Given the description of an element on the screen output the (x, y) to click on. 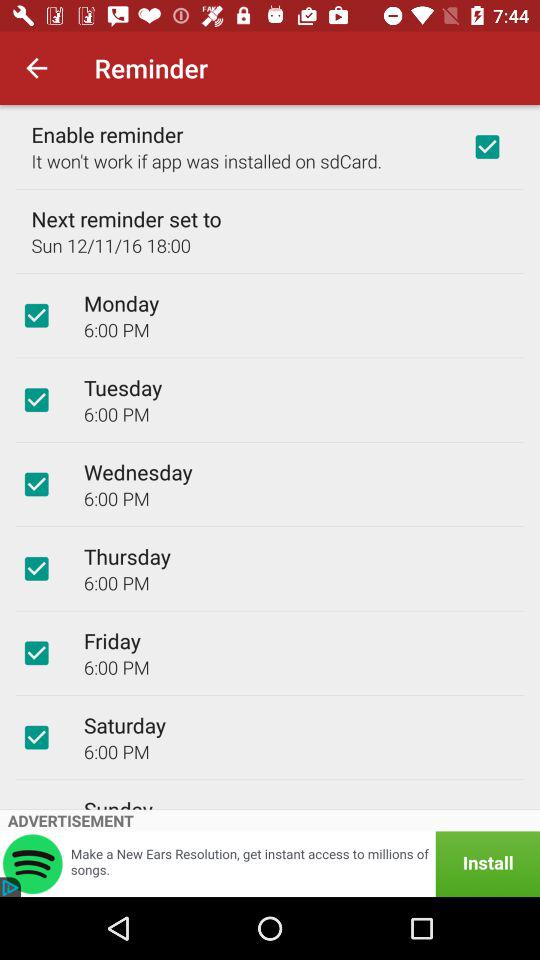
tap the item above enable reminder icon (36, 68)
